Given the description of an element on the screen output the (x, y) to click on. 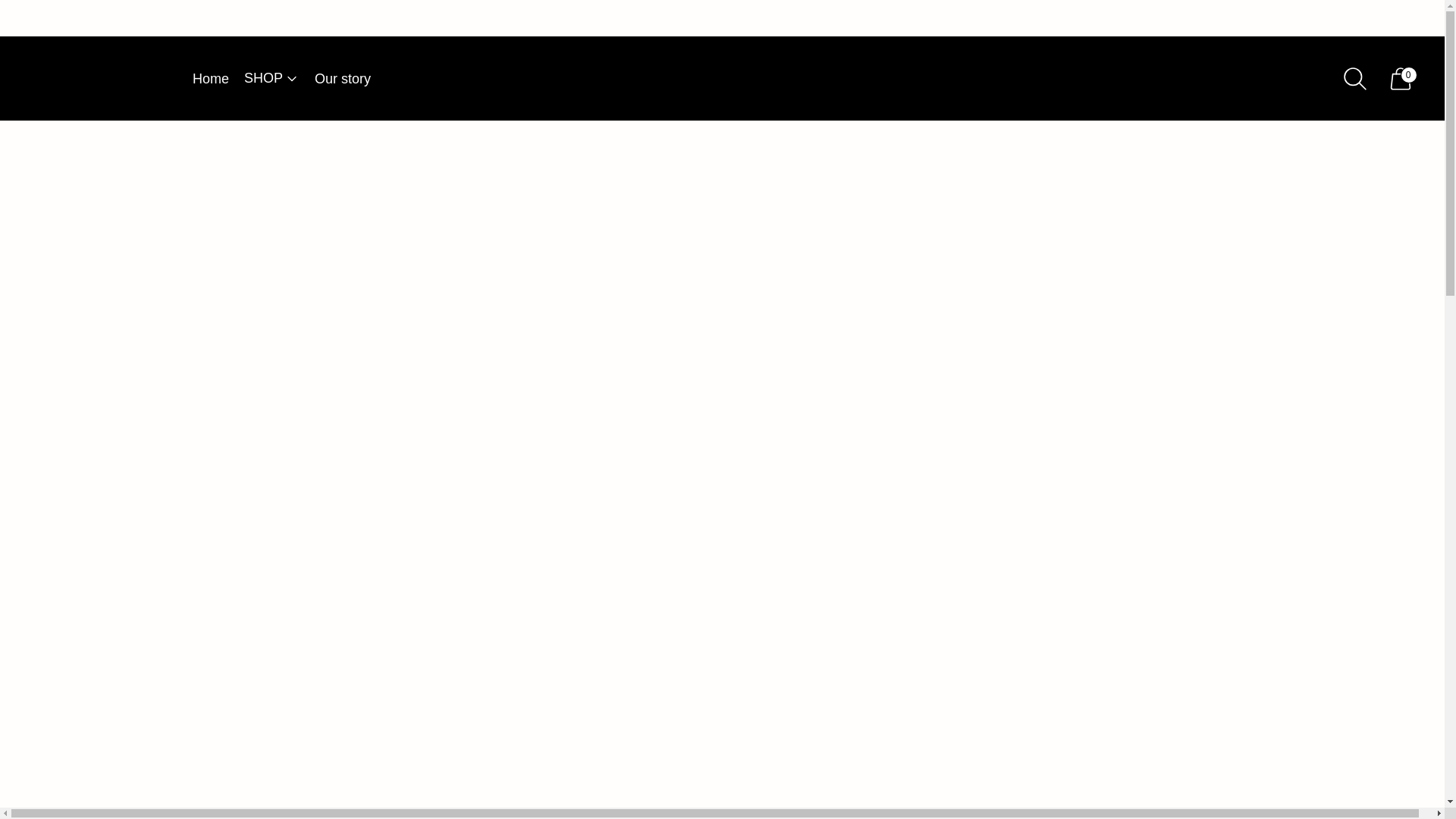
Our story (342, 78)
SHOP (271, 78)
0 (1400, 78)
Home (210, 78)
